Given the description of an element on the screen output the (x, y) to click on. 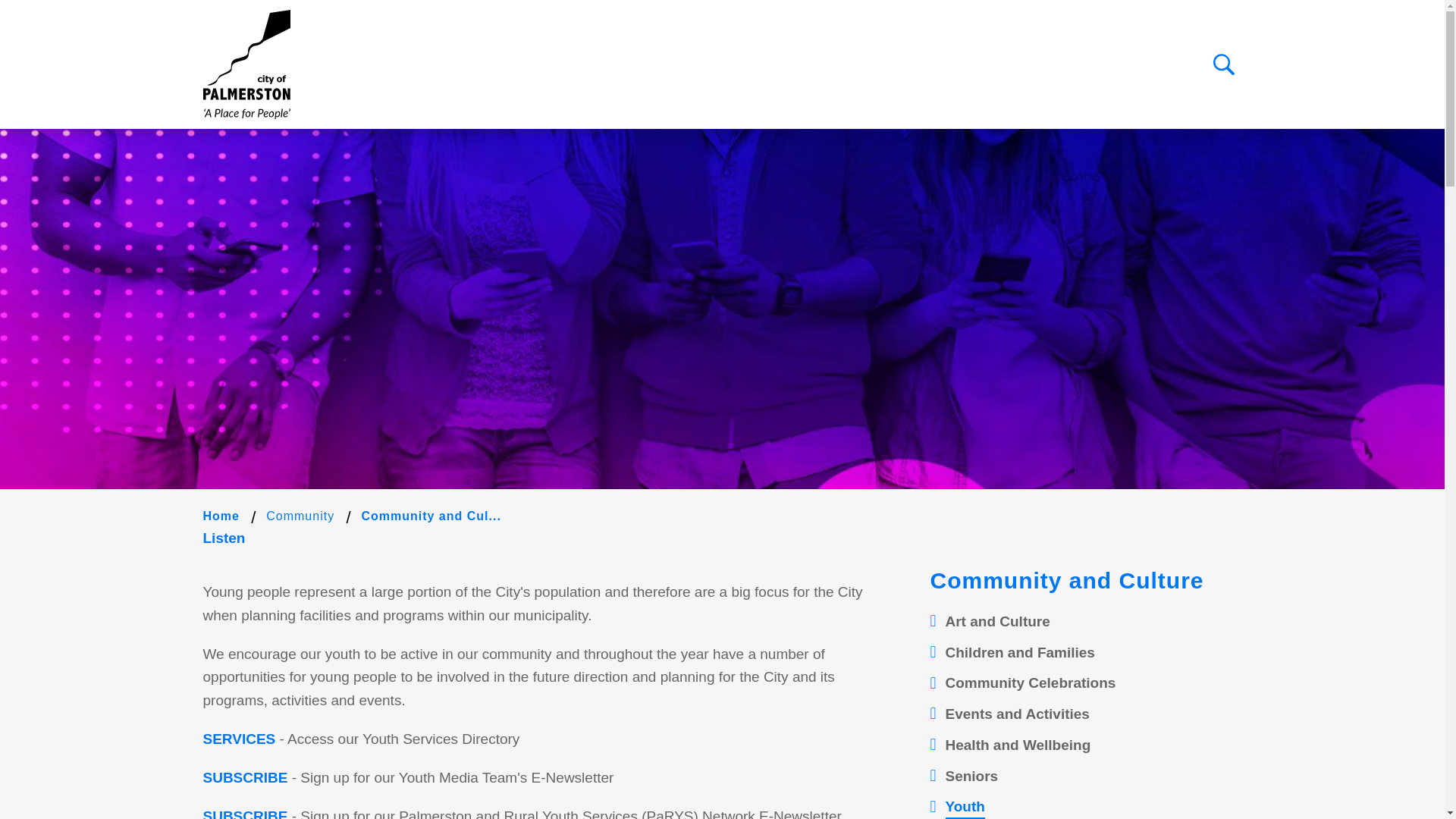
Listen to this page using ReadSpeaker (224, 537)
Search (1223, 64)
